Given the description of an element on the screen output the (x, y) to click on. 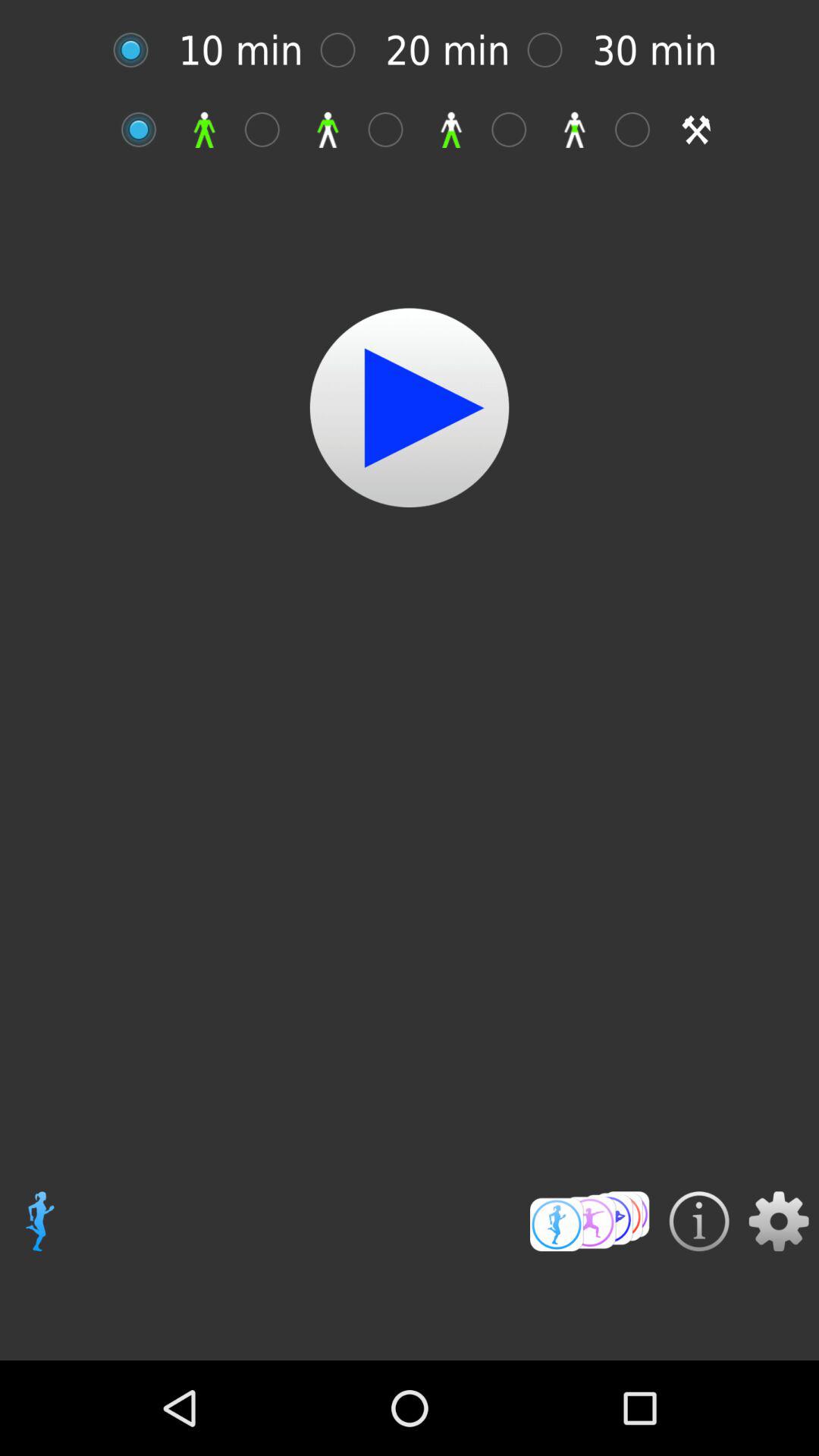
option button (552, 49)
